Given the description of an element on the screen output the (x, y) to click on. 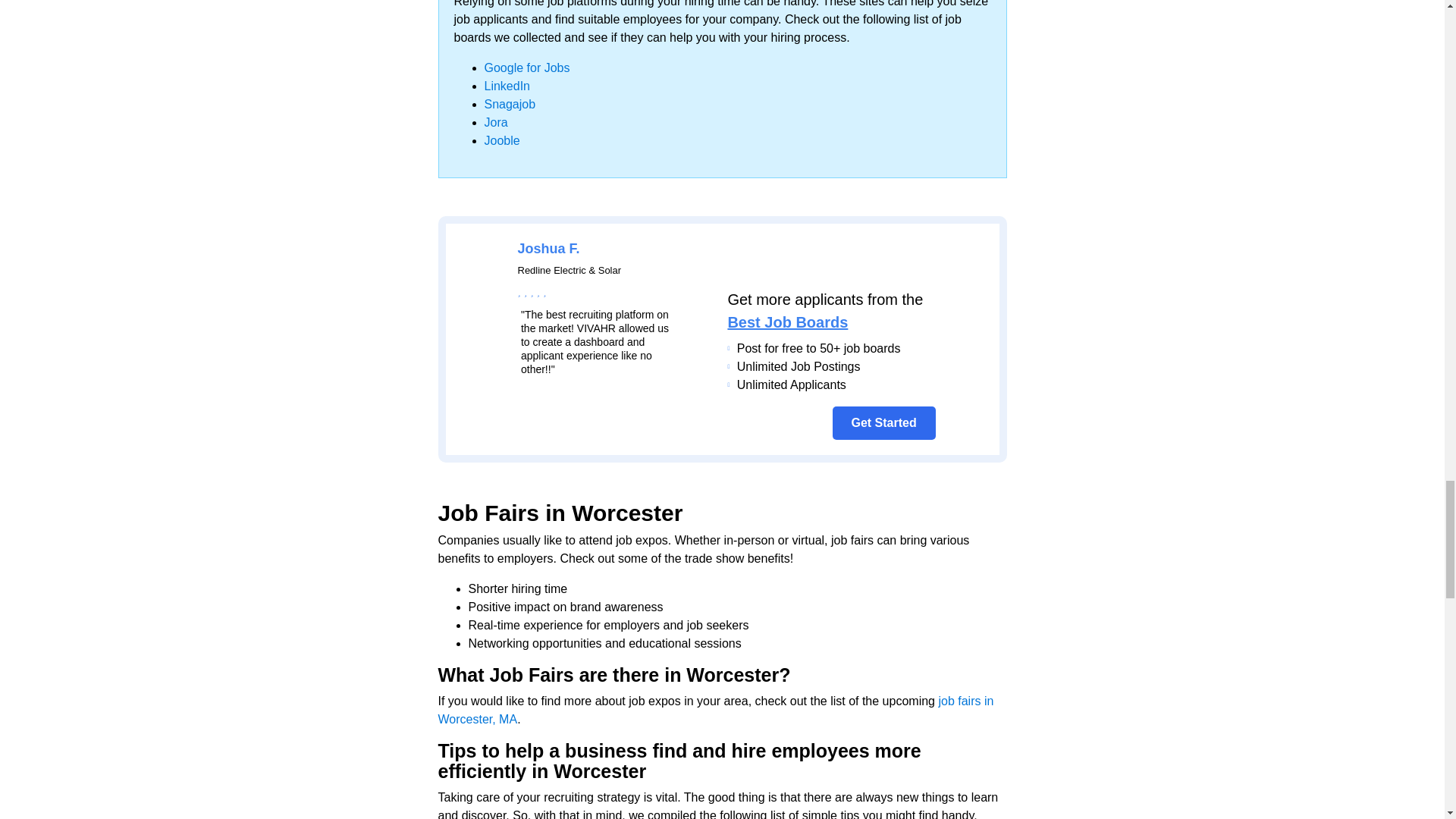
Free Job Posting Sites In Worcester (483, 261)
Free Job Posting Sites In Worcester (916, 284)
Free Job Posting Sites In Worcester (483, 328)
